Given the description of an element on the screen output the (x, y) to click on. 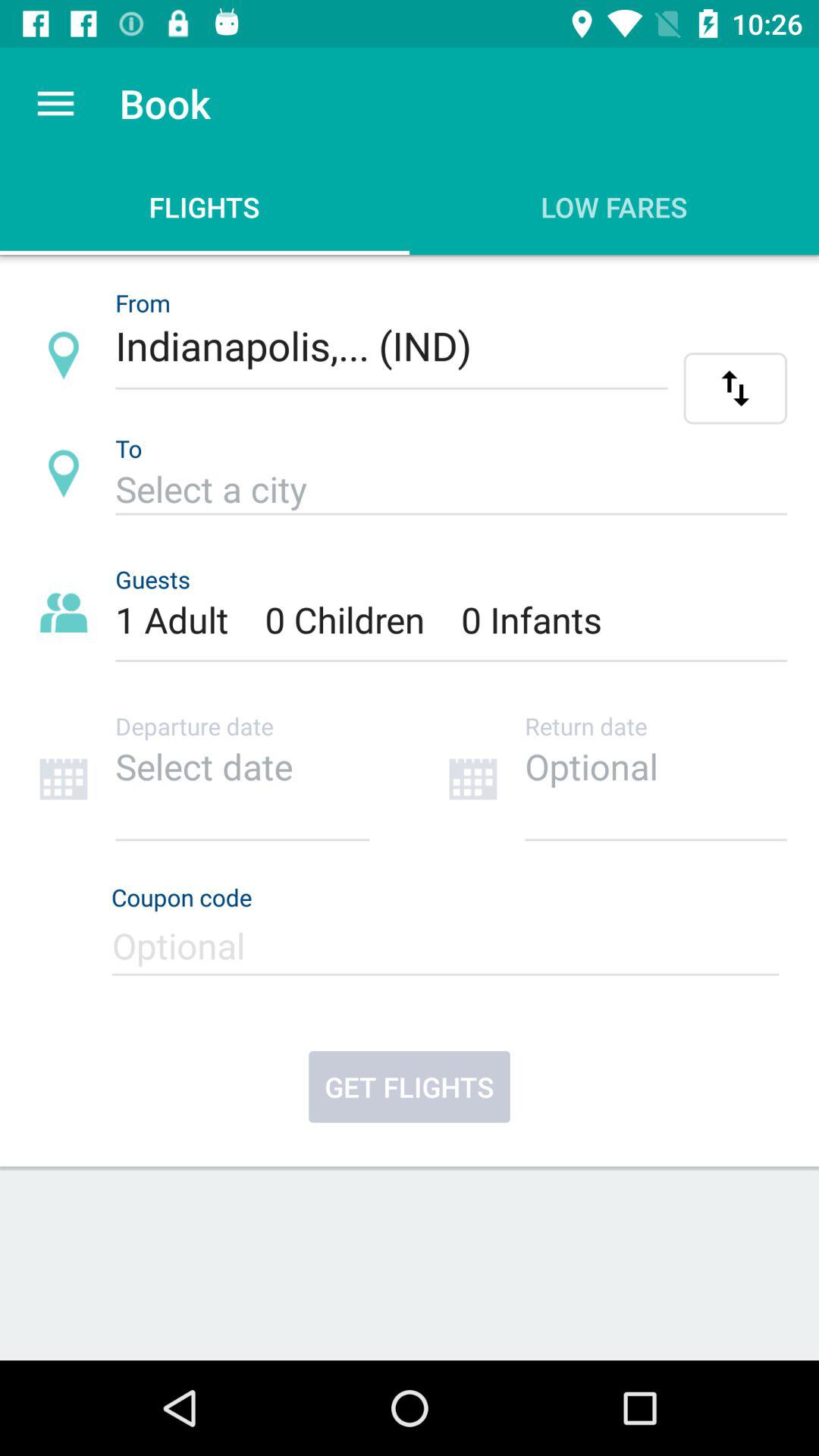
launch the icon next to book icon (55, 103)
